Given the description of an element on the screen output the (x, y) to click on. 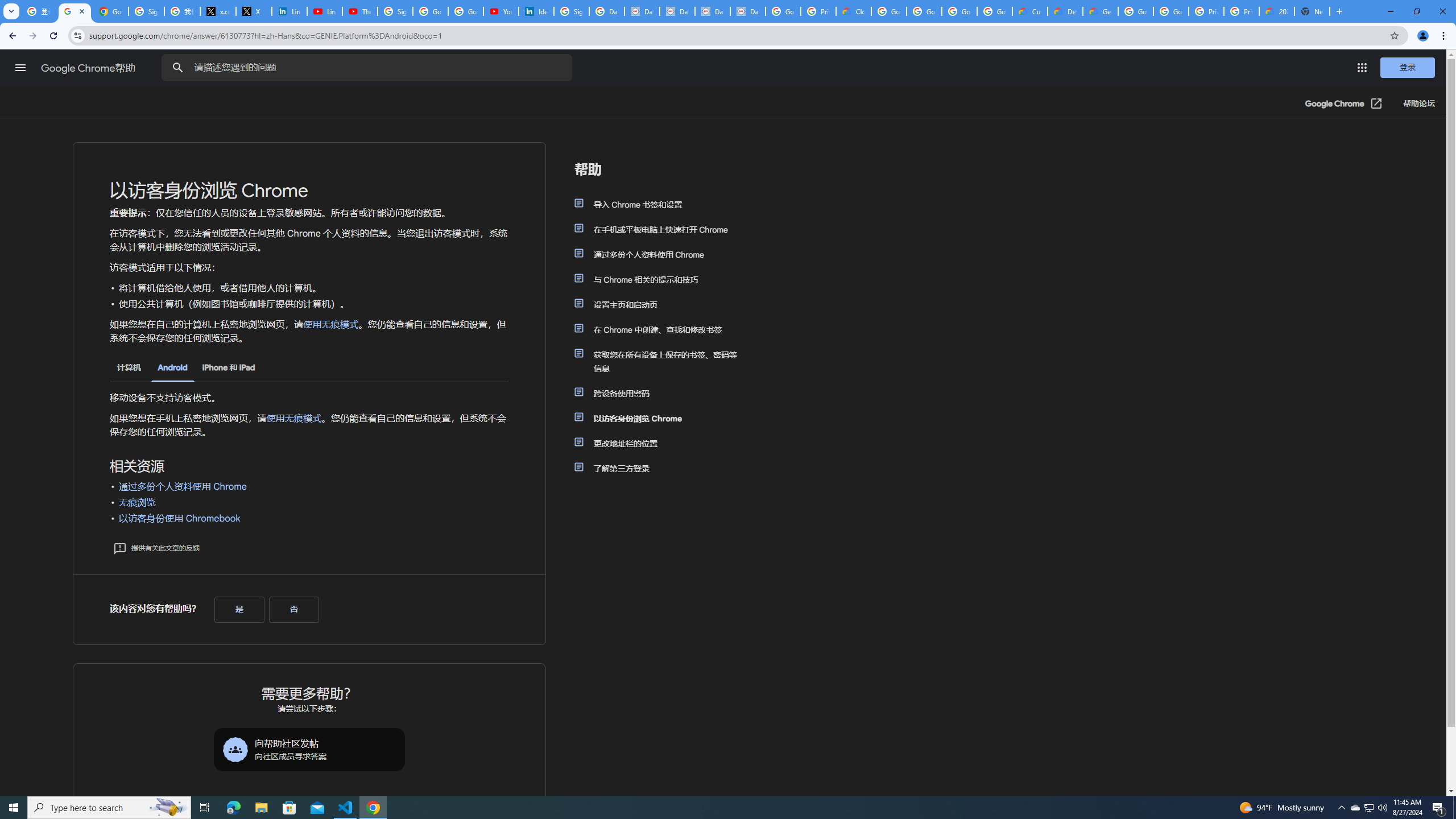
Sign in - Google Accounts (145, 11)
Sign in - Google Accounts (394, 11)
Google Cloud Platform (1170, 11)
Gemini for Business and Developers | Google Cloud (1099, 11)
